Given the description of an element on the screen output the (x, y) to click on. 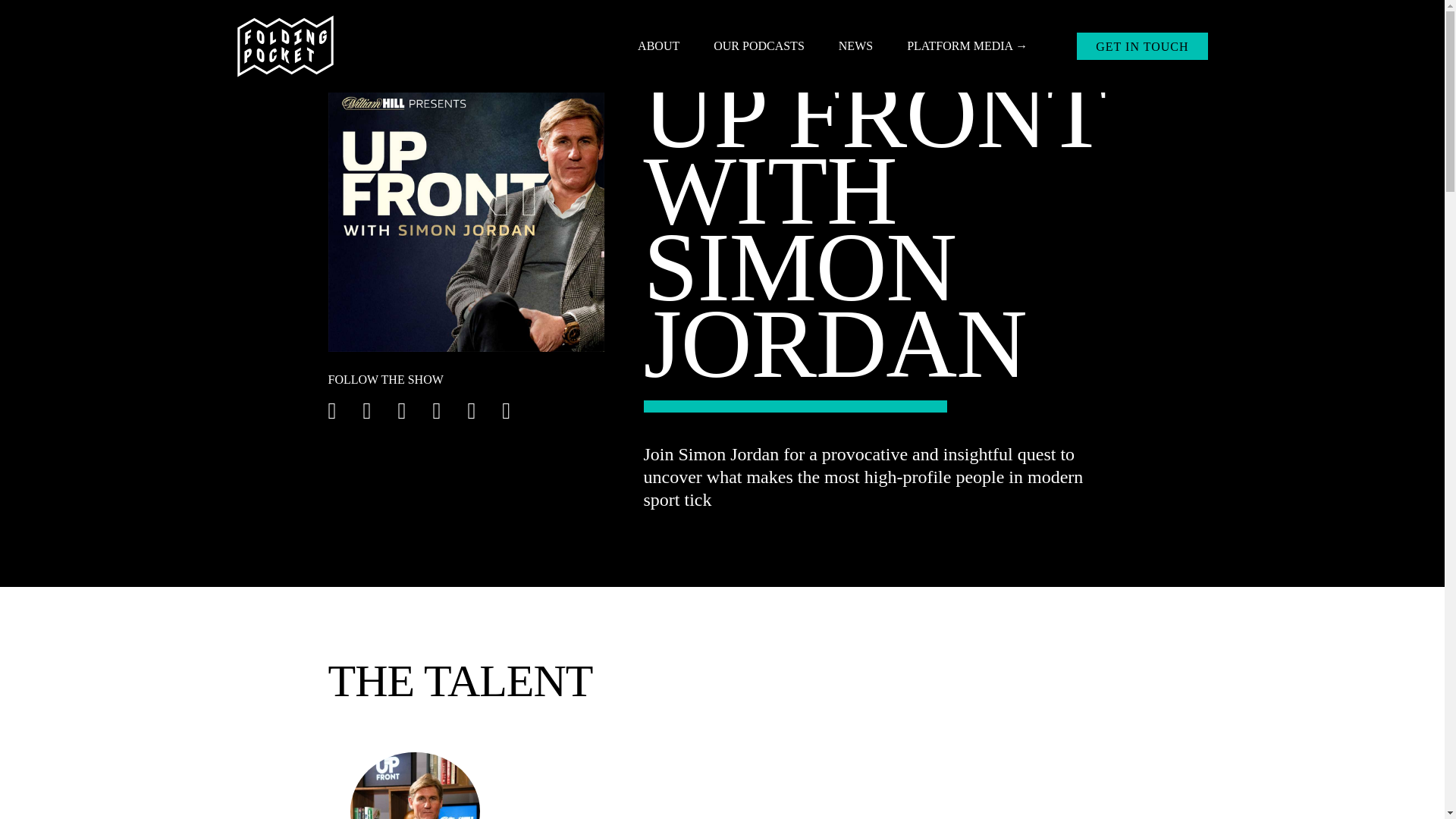
About (658, 45)
Our Podcasts (759, 45)
NEWS (855, 45)
News (855, 45)
OUR PODCASTS (759, 45)
ABOUT (658, 45)
GET IN TOUCH (1142, 45)
